Given the description of an element on the screen output the (x, y) to click on. 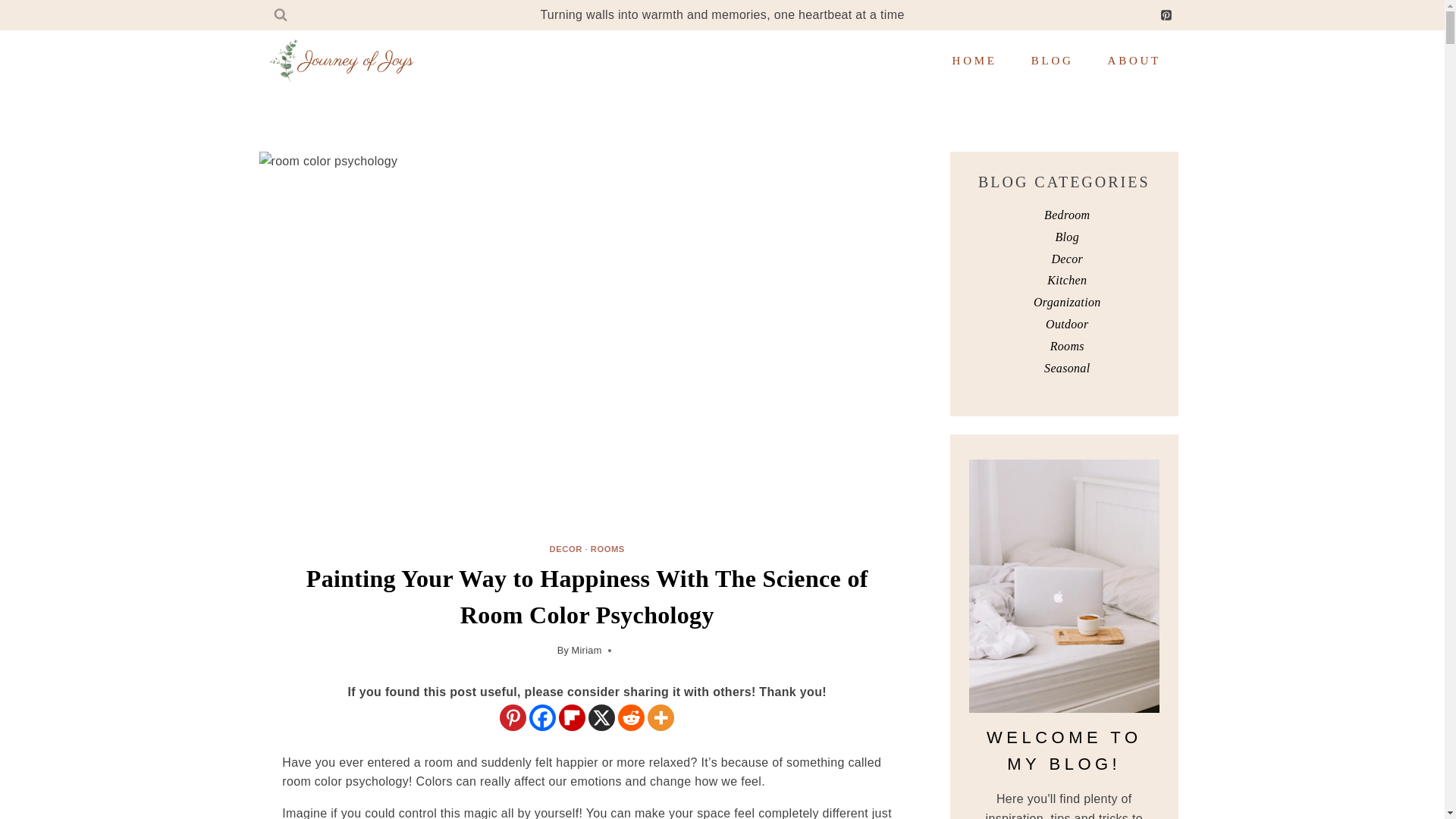
Miriam (585, 650)
More (660, 717)
Pinterest (512, 717)
Flipboard (572, 717)
ROOMS (607, 548)
DECOR (566, 548)
ABOUT (1133, 60)
X (601, 717)
Facebook (542, 717)
BLOG (1051, 60)
Reddit (631, 717)
HOME (973, 60)
